Given the description of an element on the screen output the (x, y) to click on. 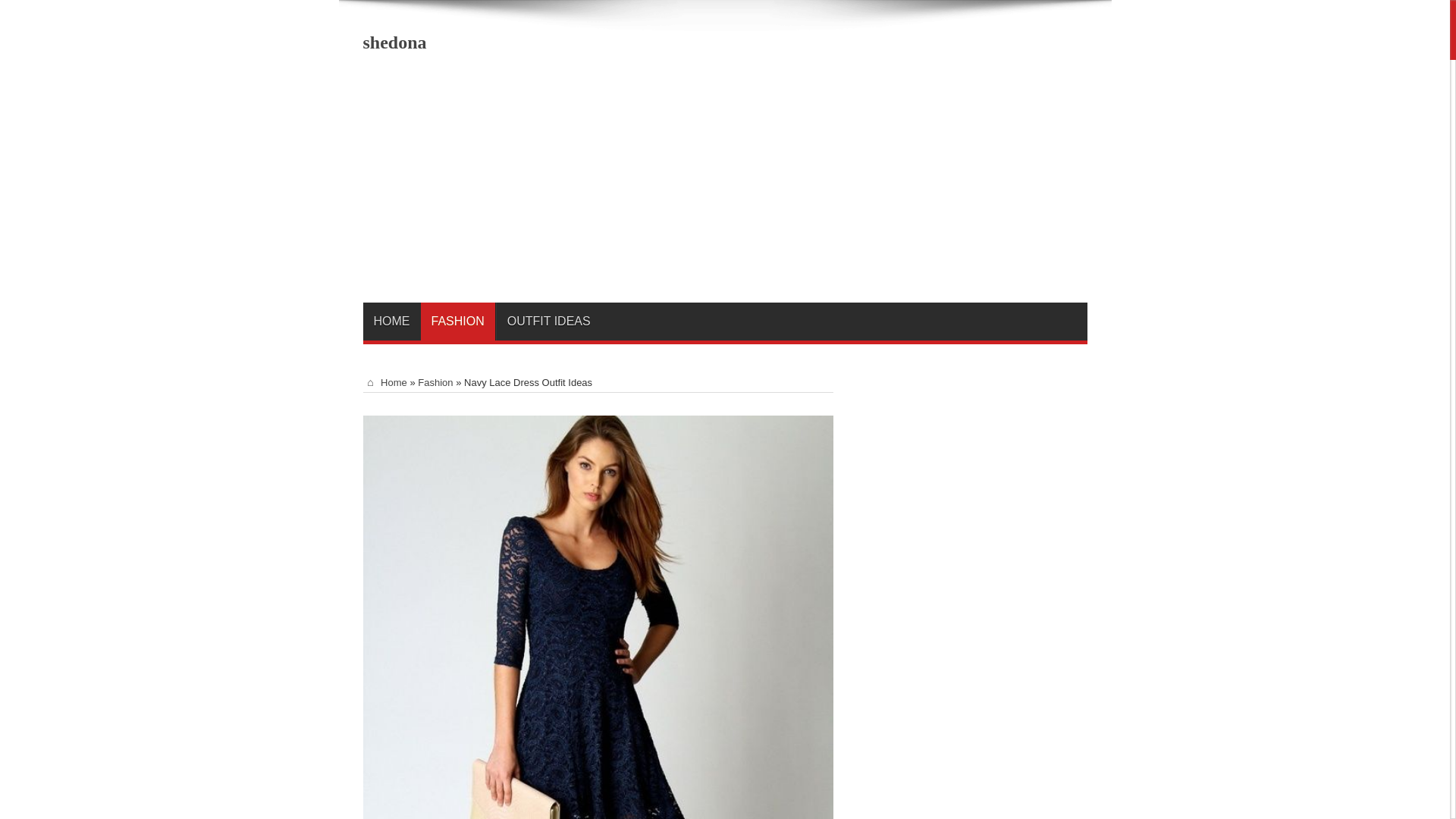
Fashion (434, 382)
shedona (394, 42)
HOME (391, 321)
FASHION (457, 321)
Home (384, 382)
OUTFIT IDEAS (548, 321)
